Given the description of an element on the screen output the (x, y) to click on. 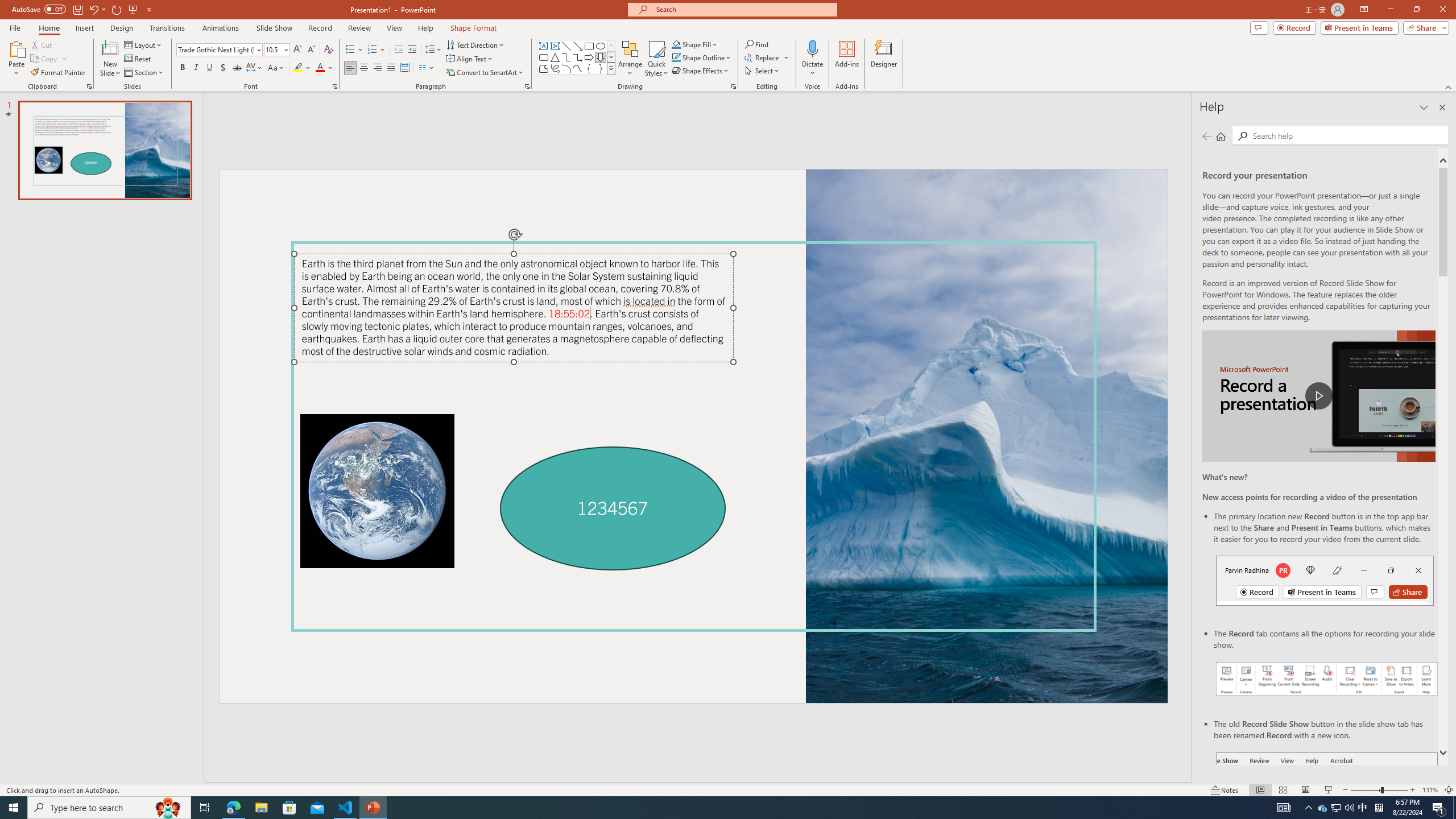
Shape Fill Aqua, Accent 2 (675, 44)
